Given the description of an element on the screen output the (x, y) to click on. 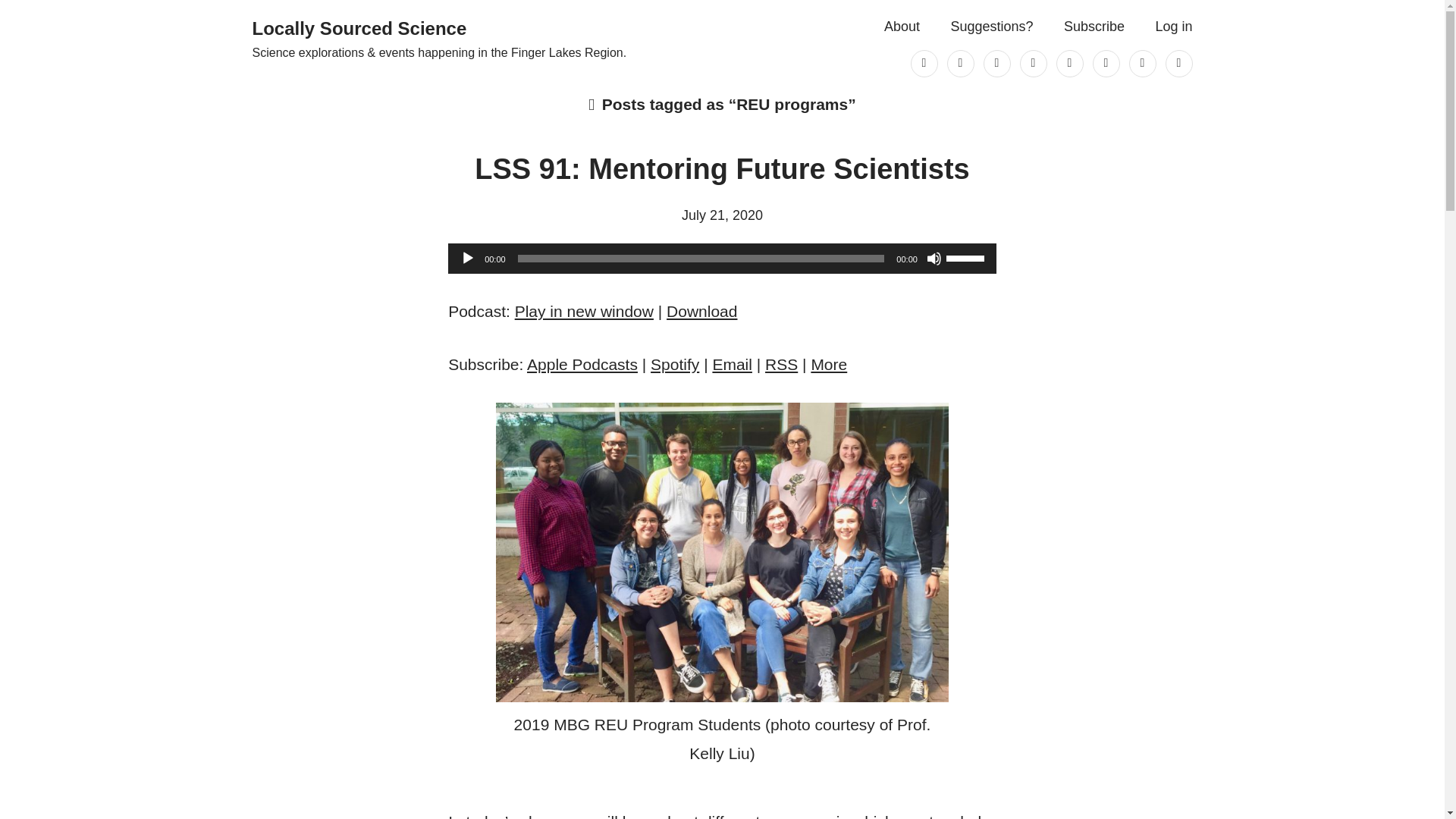
Suggestions? (991, 27)
Download (701, 311)
LSS 91: Mentoring Future Scientists (721, 169)
More (828, 364)
Apple Podcasts (582, 364)
About (901, 27)
Subscribe (1094, 27)
Subscribe on Spotify (674, 364)
Play in new window (584, 311)
Locally Sourced Science (358, 28)
Log in (1173, 27)
Email (731, 364)
Subscribe on Apple Podcasts (582, 364)
Subscribe via RSS (781, 364)
More (828, 364)
